Given the description of an element on the screen output the (x, y) to click on. 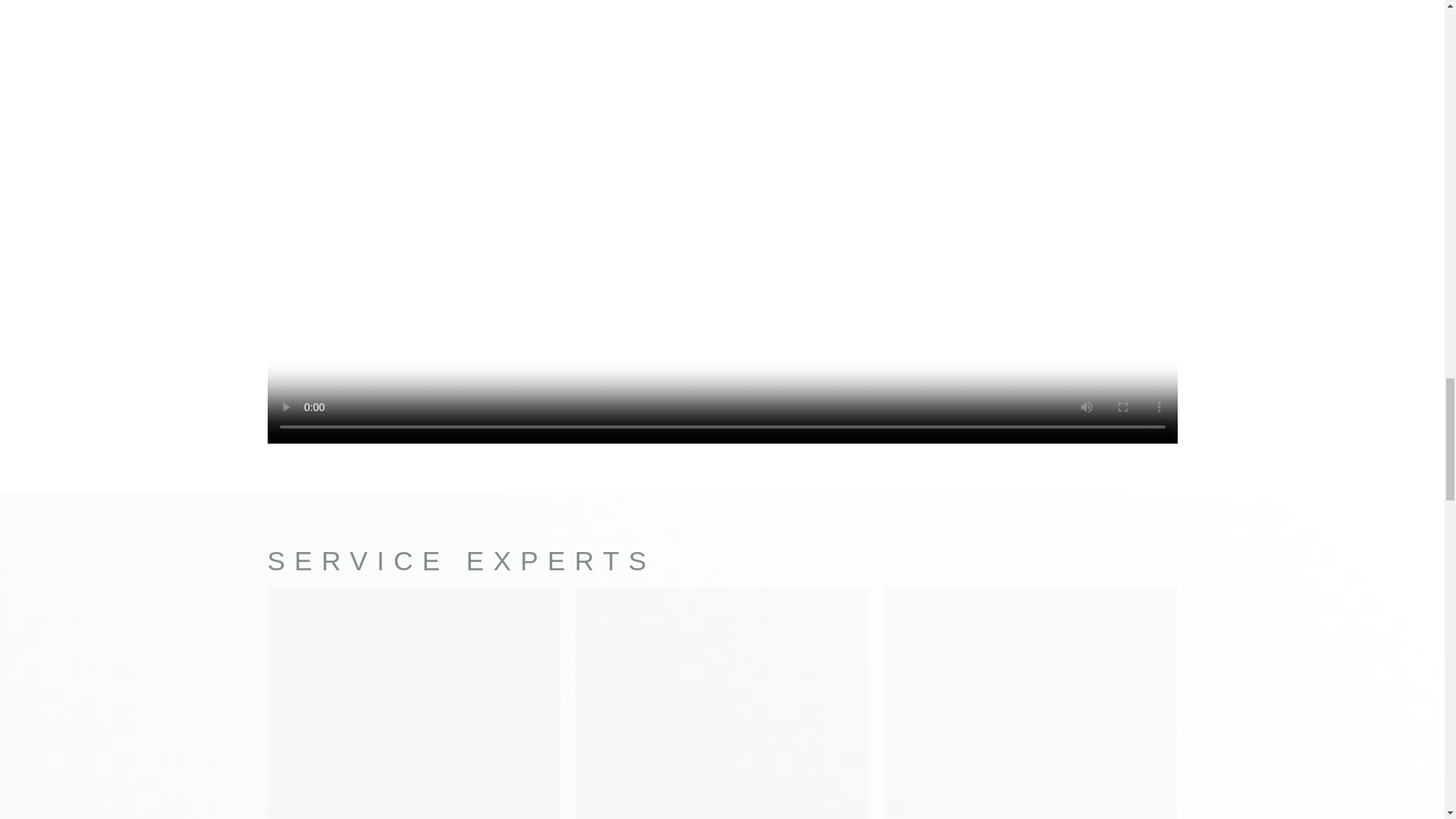
SERVICE EXPERTS (460, 560)
